Given the description of an element on the screen output the (x, y) to click on. 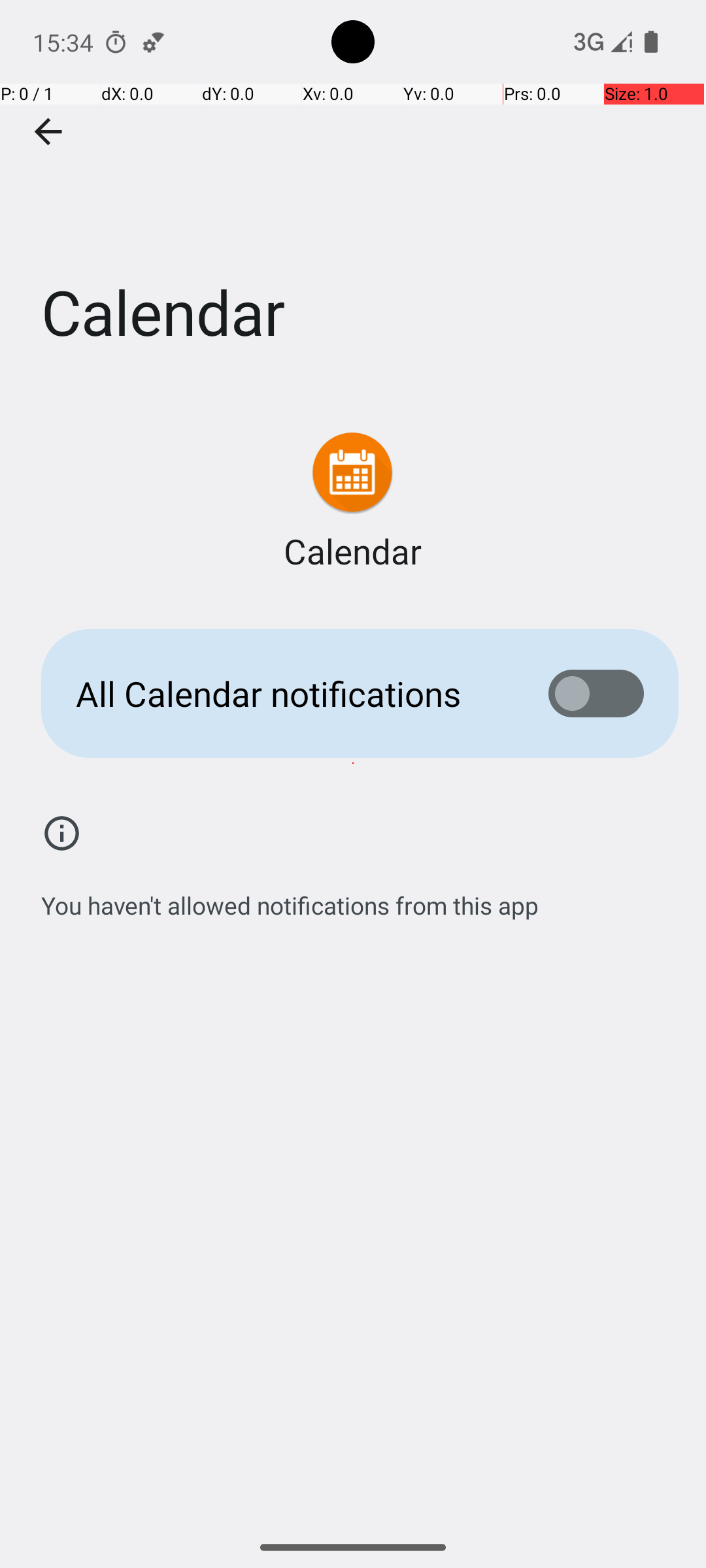
You haven't allowed notifications from this app Element type: android.widget.TextView (290, 898)
